Given the description of an element on the screen output the (x, y) to click on. 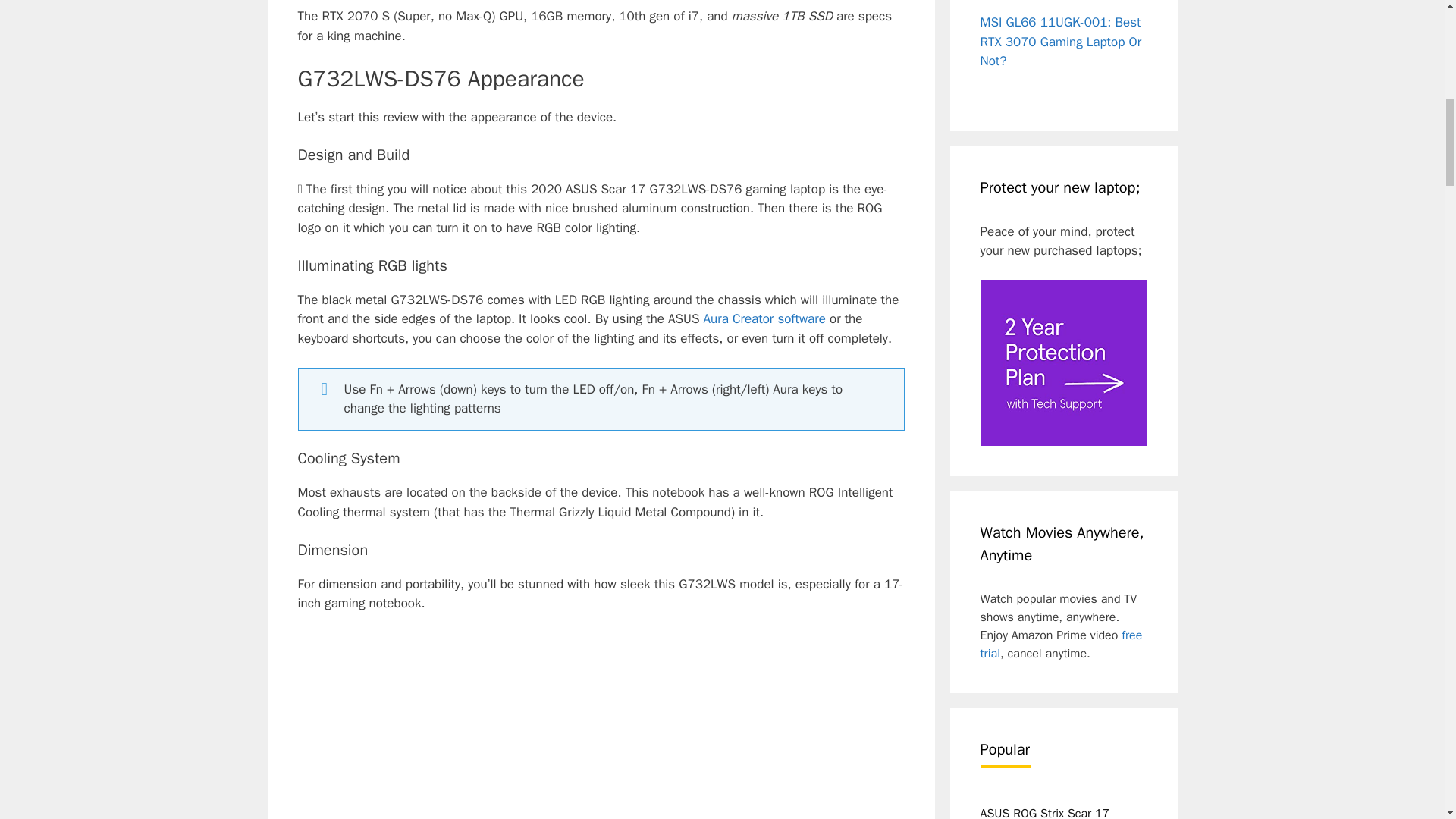
Aura Creator software (764, 318)
G732LWS-DS76 with the keystone slot (601, 725)
Our short guide about Aura Creator (764, 318)
